Given the description of an element on the screen output the (x, y) to click on. 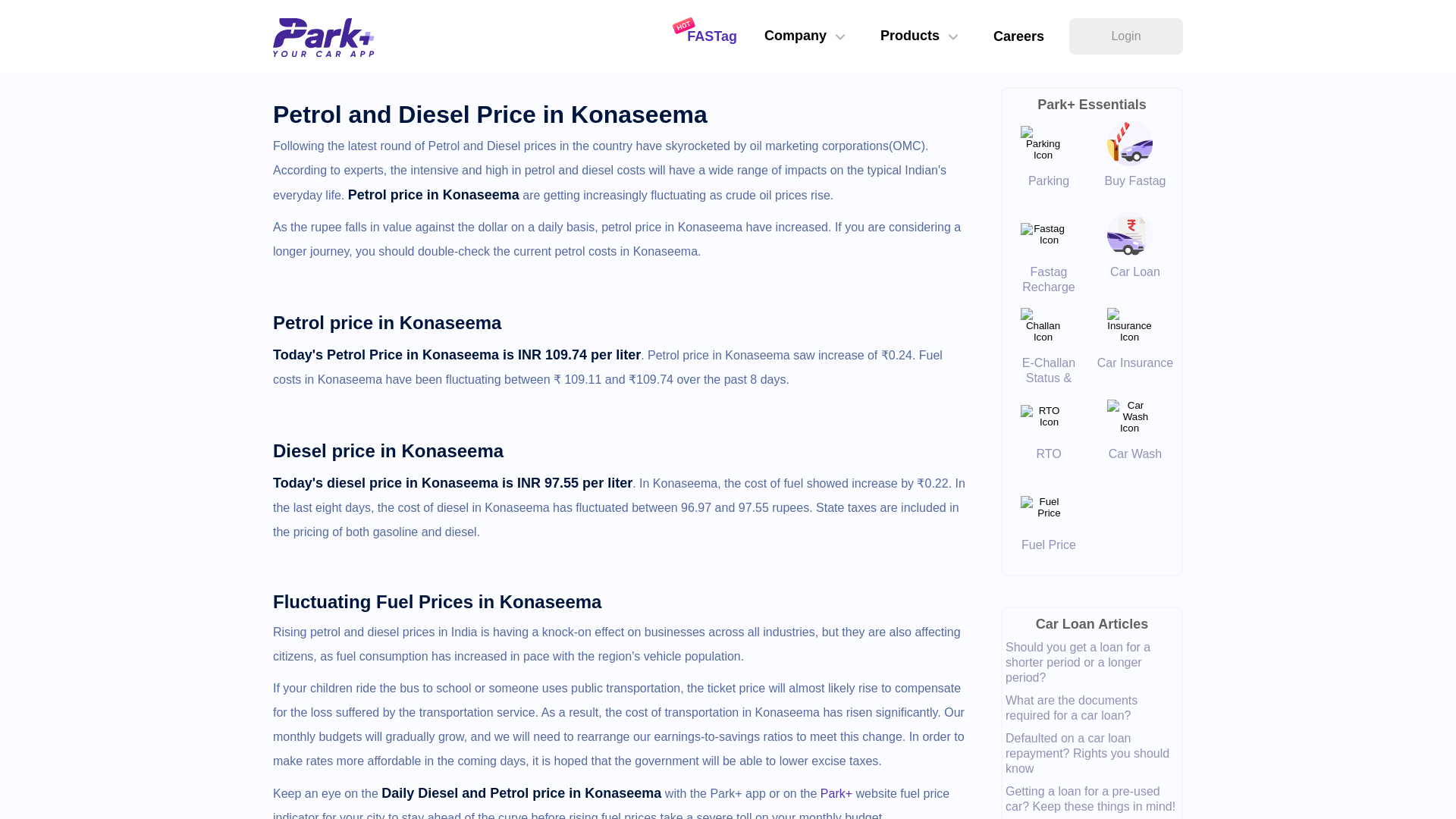
Fuel Price (1049, 552)
What are the documents required for a car loan? (1094, 707)
Parking (1049, 188)
Buy Fastag (1134, 188)
Car Insurance (1134, 370)
Defaulted on a car loan repayment? Rights you should know (1094, 753)
Car Wash (1134, 461)
RTO (1049, 461)
